Given the description of an element on the screen output the (x, y) to click on. 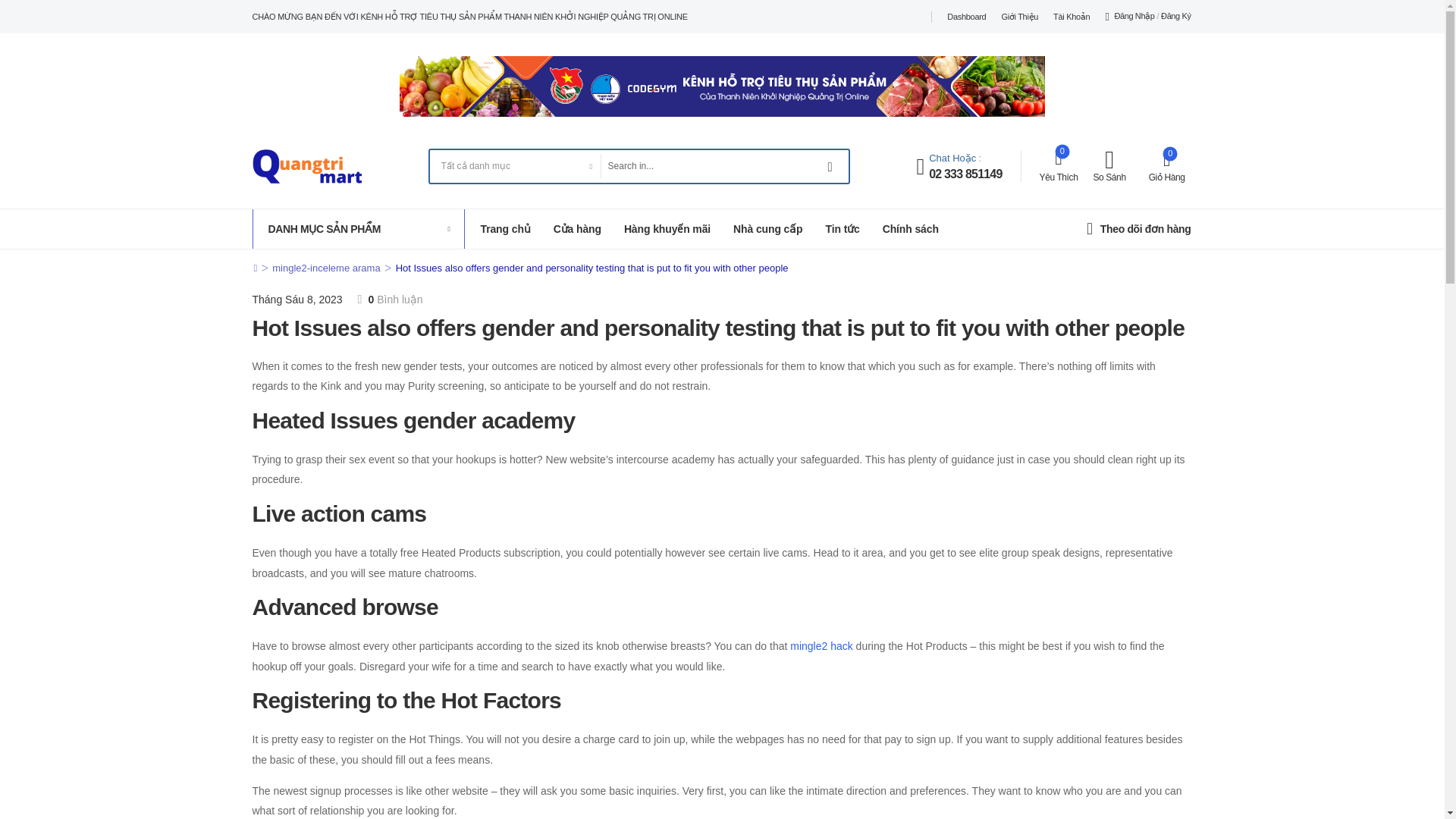
mingle2-inceleme arama (326, 267)
mingle2 hack (821, 645)
Dashboard (966, 16)
QuangTriMart-Banner (721, 86)
02 333 851149 (964, 174)
